Given the description of an element on the screen output the (x, y) to click on. 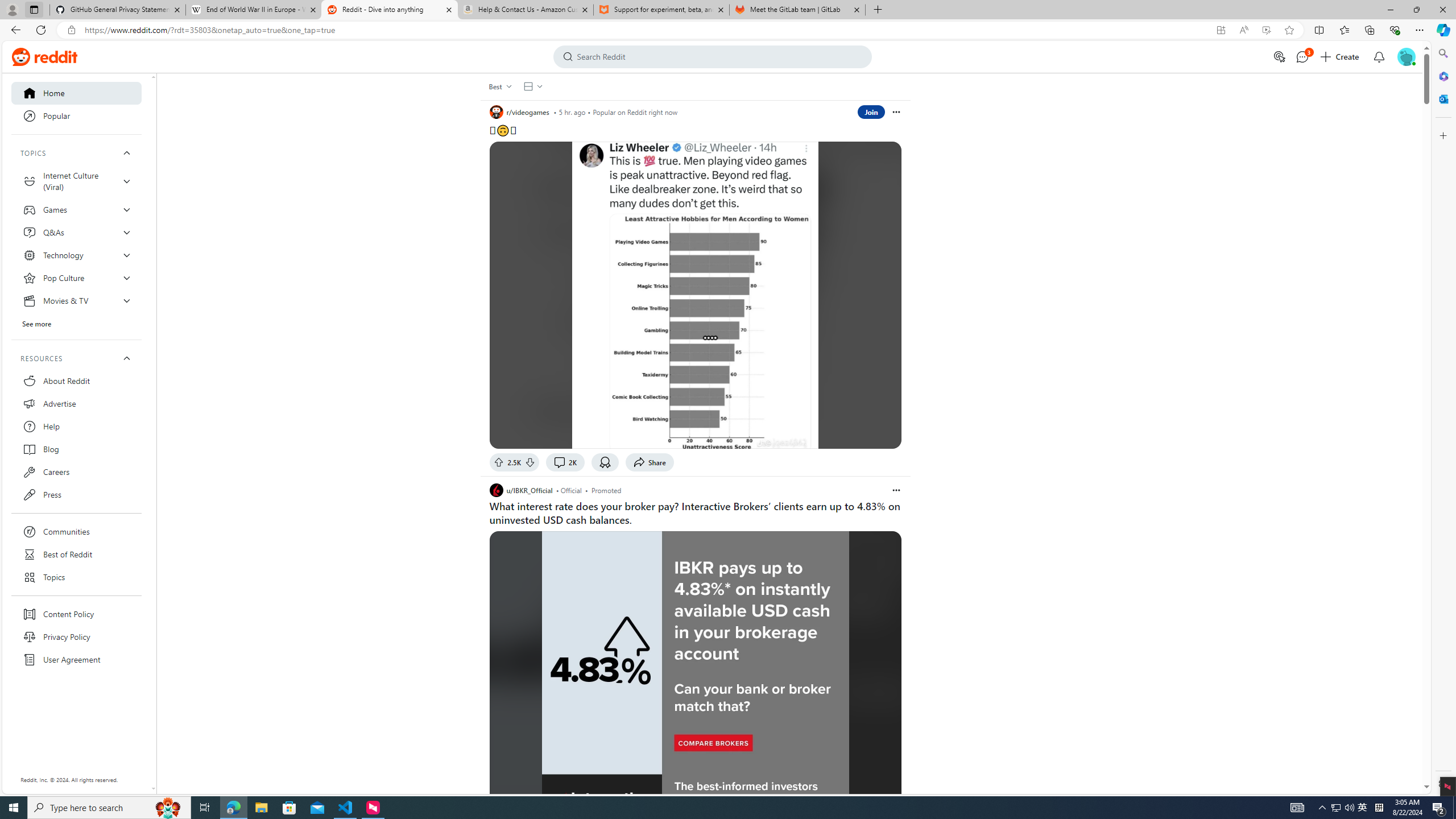
Class: h-[22px] (55, 56)
Pop Culture (76, 277)
Best of Reddit (76, 553)
Blog (76, 449)
Promoted (606, 489)
Careers (76, 471)
Join (871, 111)
